Given the description of an element on the screen output the (x, y) to click on. 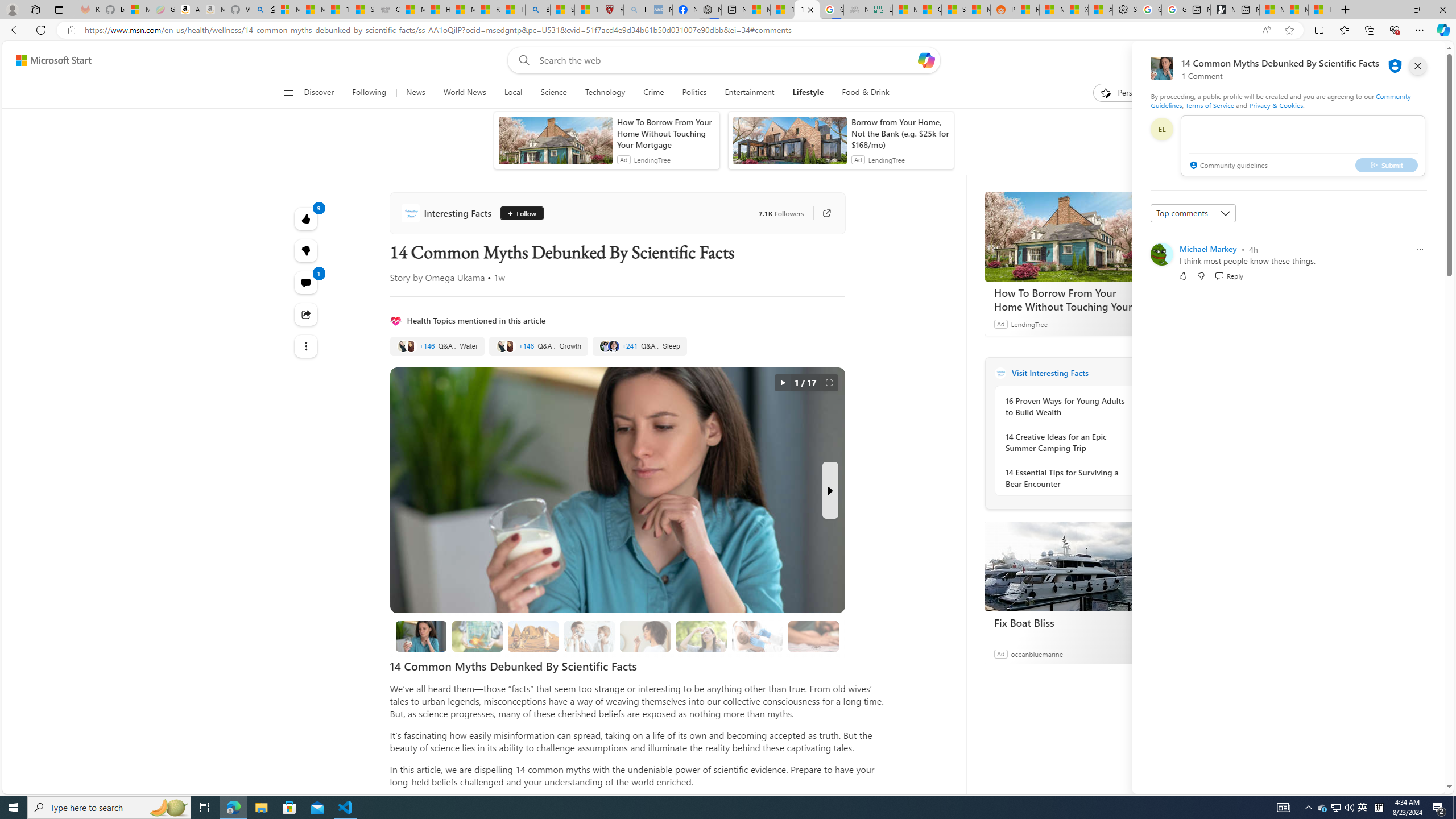
Water (437, 346)
Class: at-item (305, 345)
14 Common Myths Debunked By Scientific Facts (807, 9)
Go to publisher's site (820, 213)
Local (512, 92)
